Given the description of an element on the screen output the (x, y) to click on. 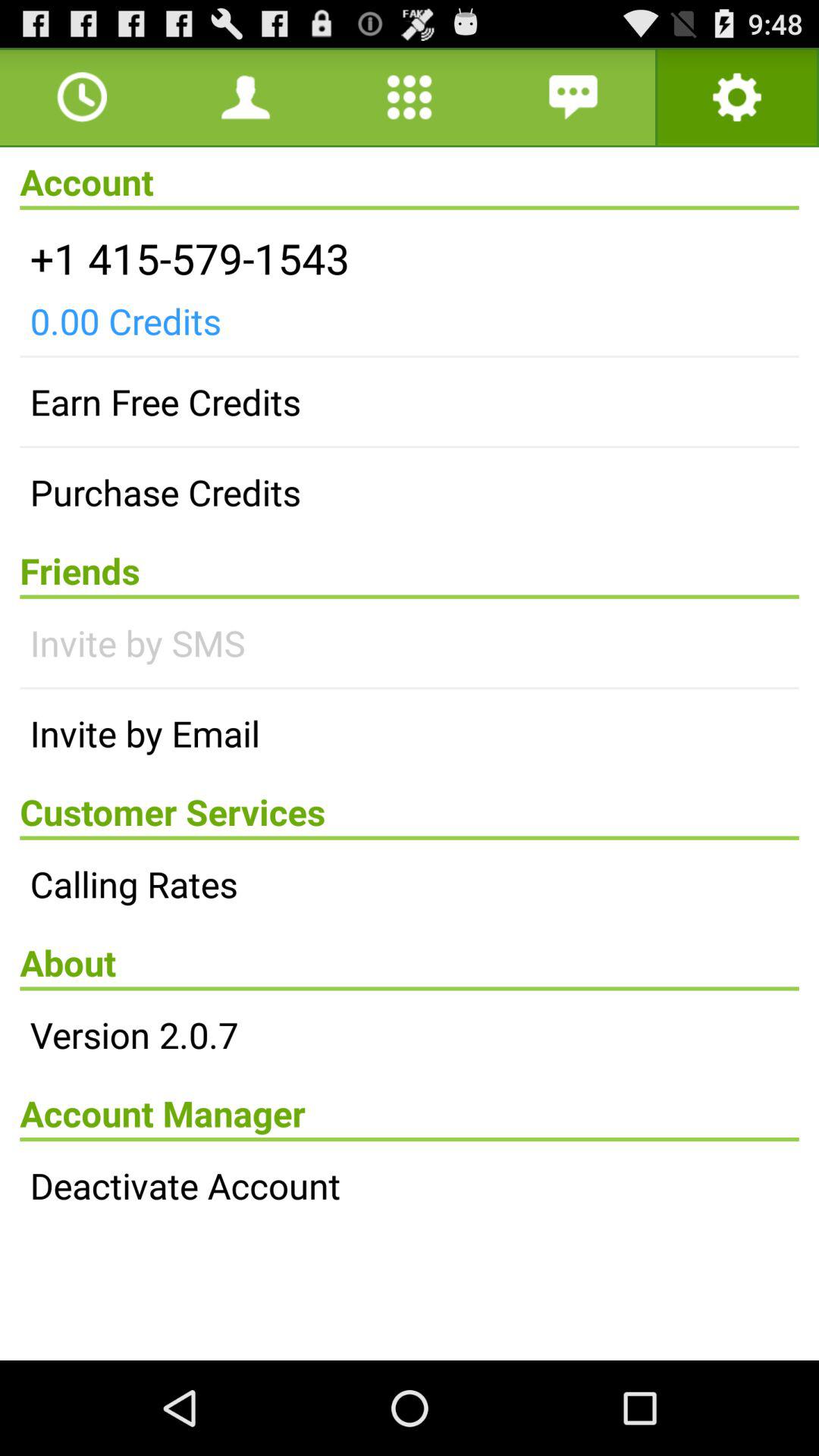
jump until purchase credits item (409, 492)
